Given the description of an element on the screen output the (x, y) to click on. 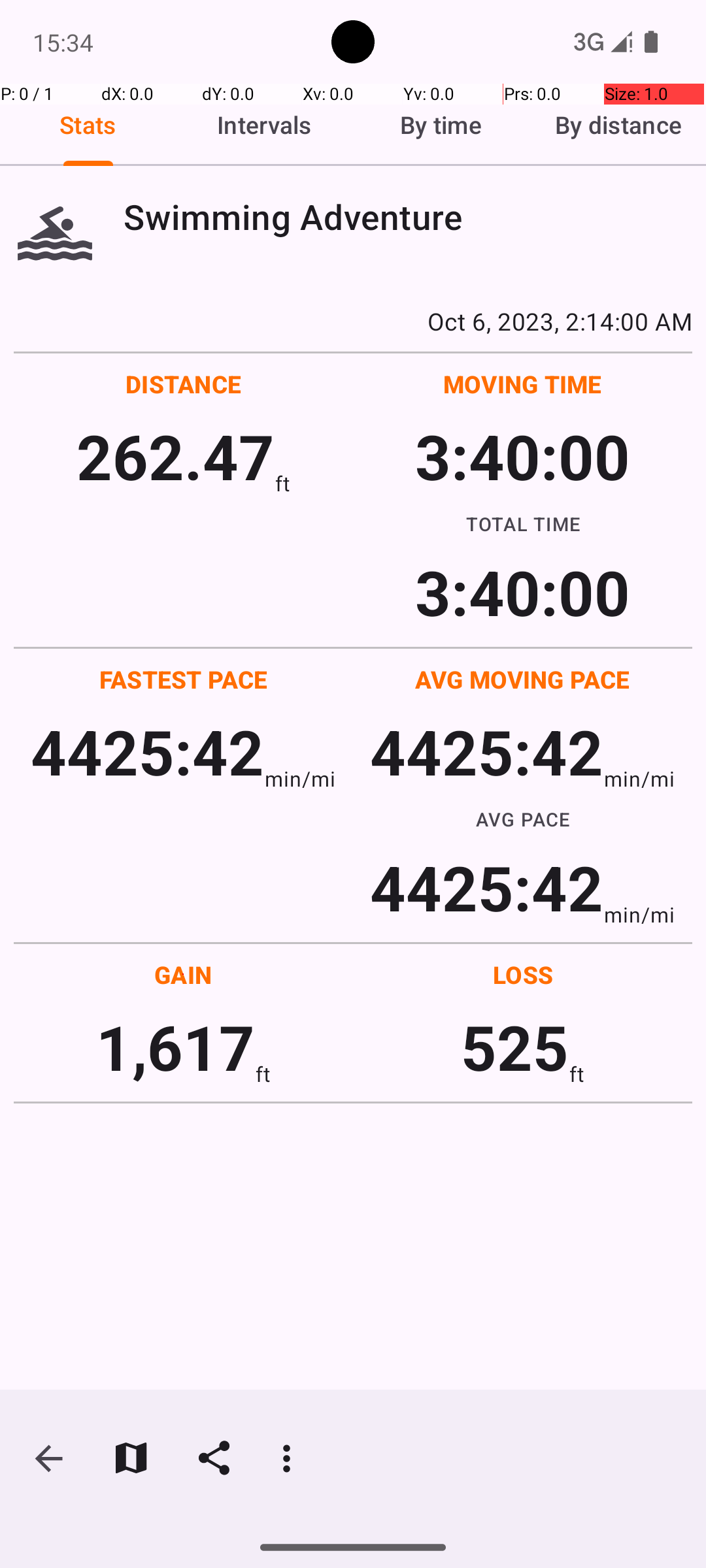
Swimming Adventure Element type: android.widget.TextView (407, 216)
Oct 6, 2023, 2:14:00 AM Element type: android.widget.TextView (352, 320)
262.47 Element type: android.widget.TextView (175, 455)
3:40:00 Element type: android.widget.TextView (522, 455)
4425:42 Element type: android.widget.TextView (147, 750)
1,617 Element type: android.widget.TextView (175, 1045)
525 Element type: android.widget.TextView (514, 1045)
